Given the description of an element on the screen output the (x, y) to click on. 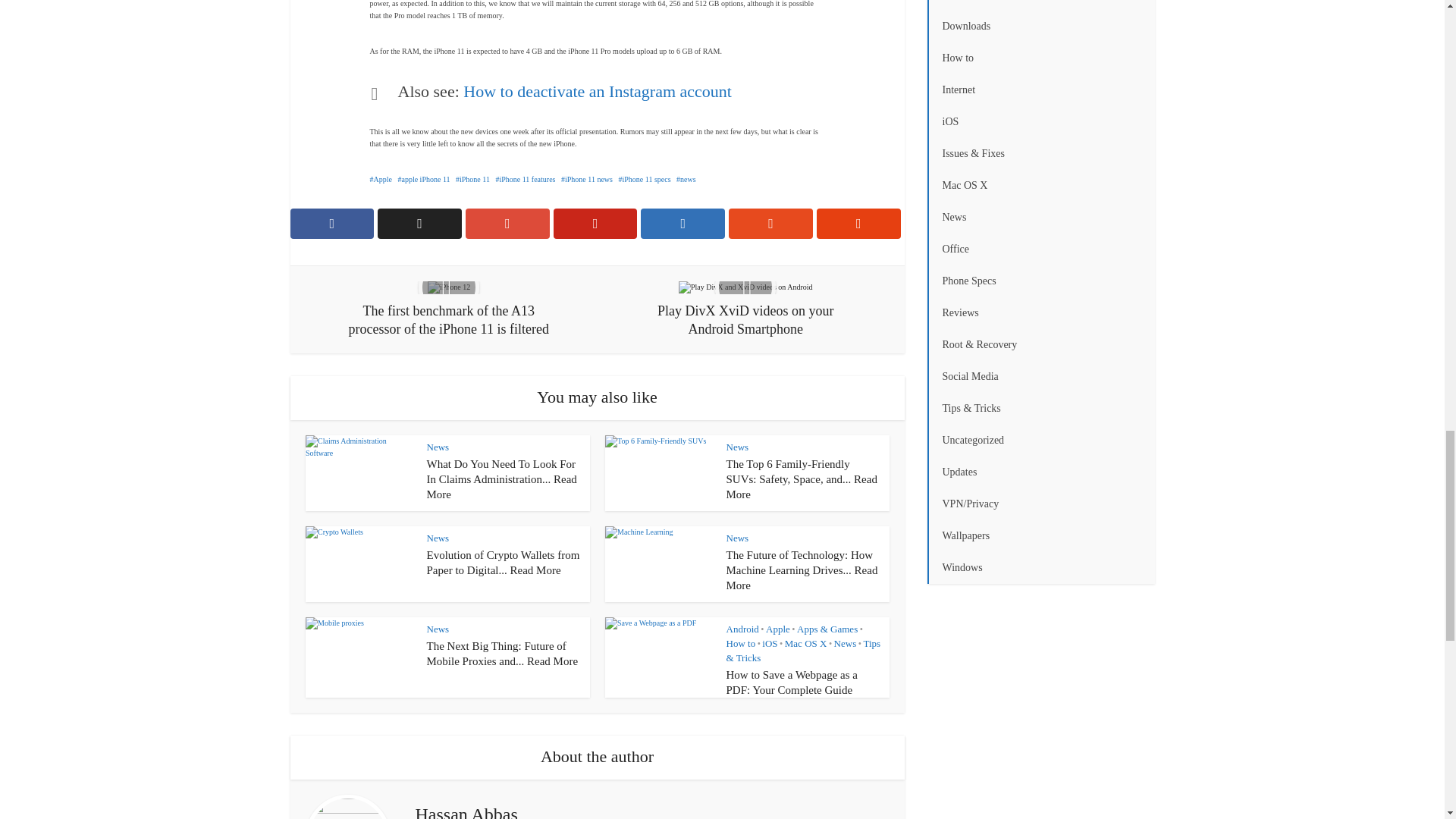
How to Save a Webpage as a PDF: Your Complete Guide (791, 682)
Evolution of Crypto Wallets from Paper to Digital Currency (502, 562)
